Given the description of an element on the screen output the (x, y) to click on. 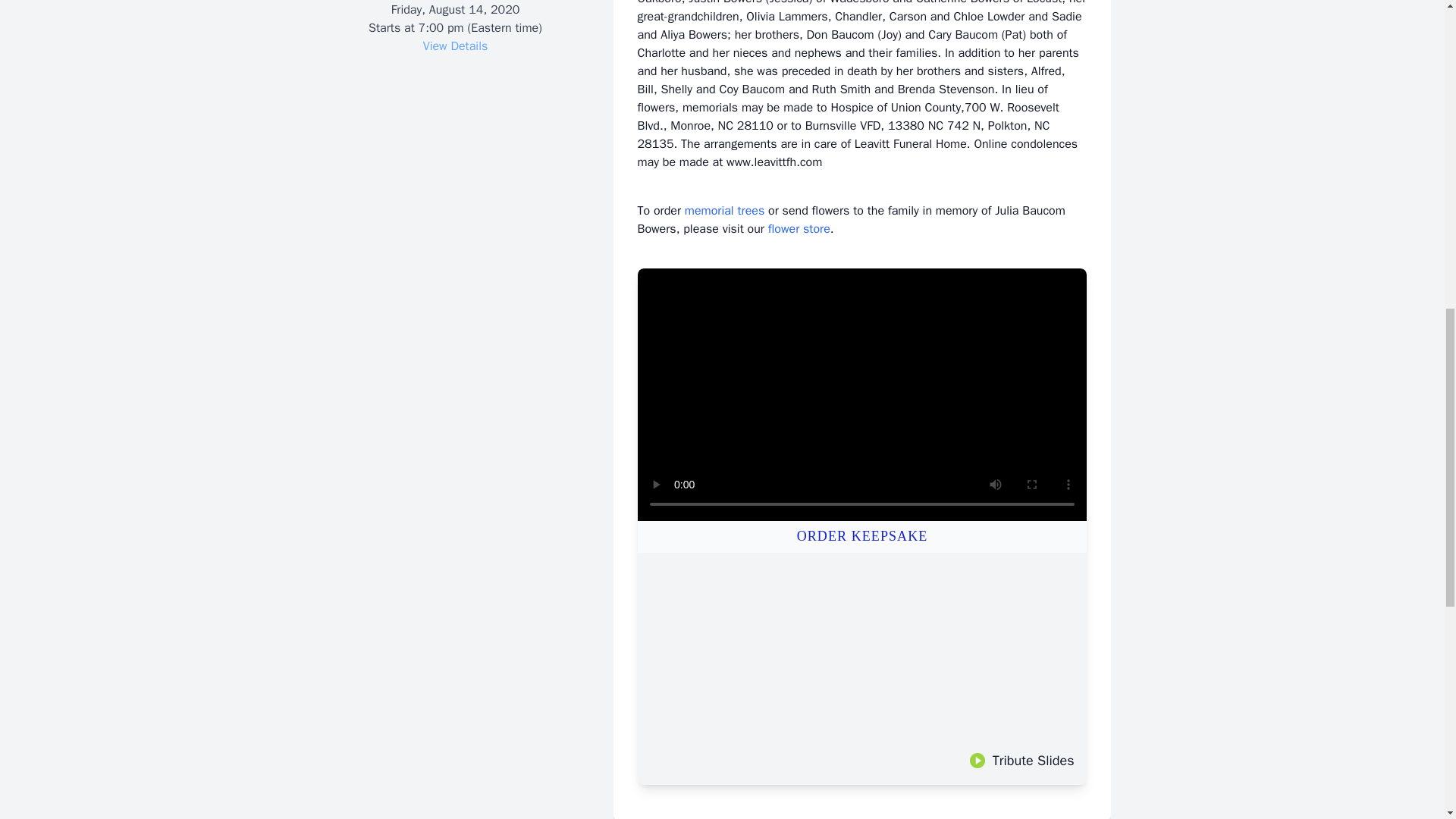
View Details (455, 46)
flower store (798, 228)
memorial trees (724, 210)
